Given the description of an element on the screen output the (x, y) to click on. 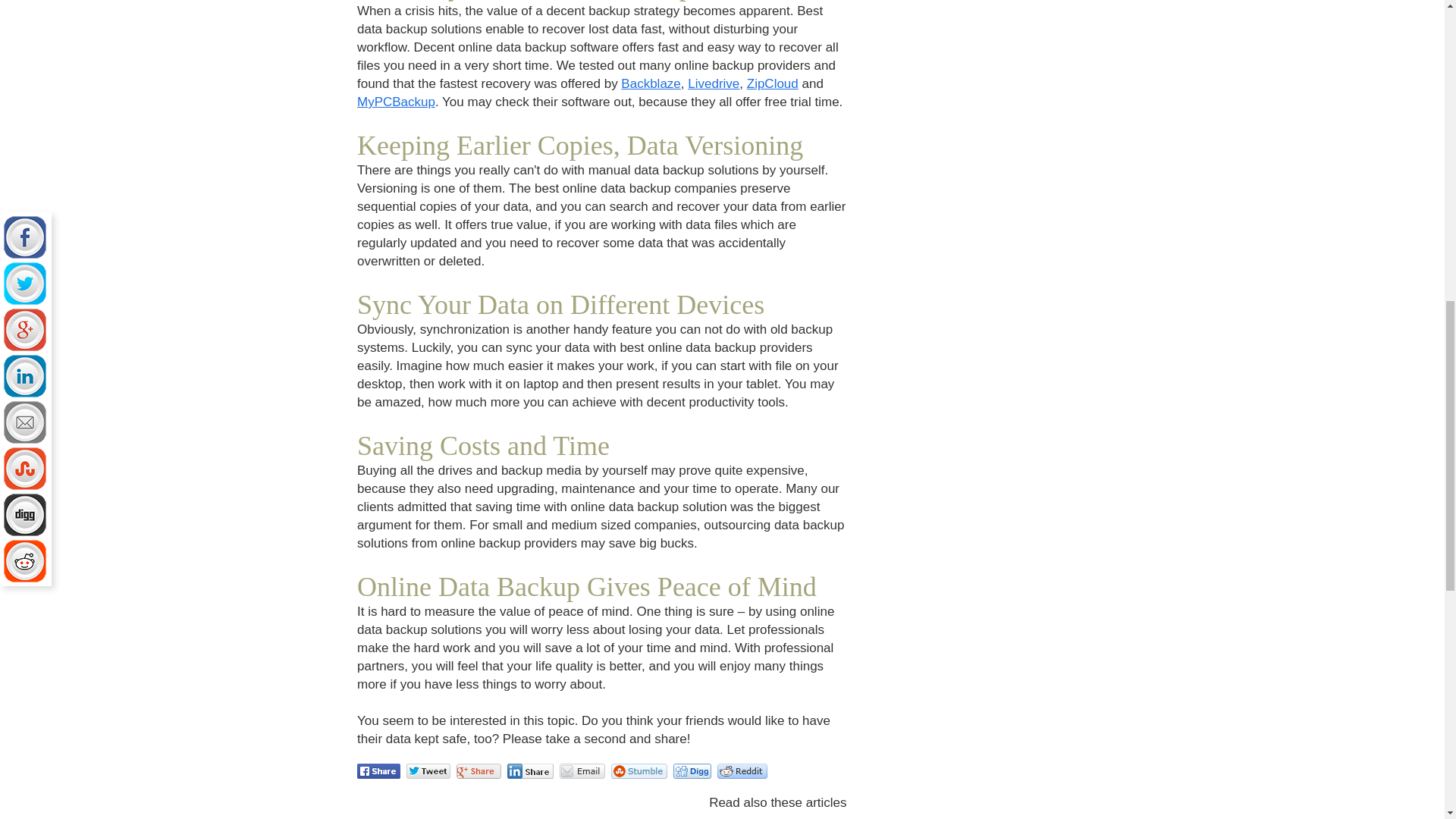
Livedrive (713, 83)
ZipCloud (771, 83)
MyPCBackup (395, 101)
Backblaze (650, 83)
